Given the description of an element on the screen output the (x, y) to click on. 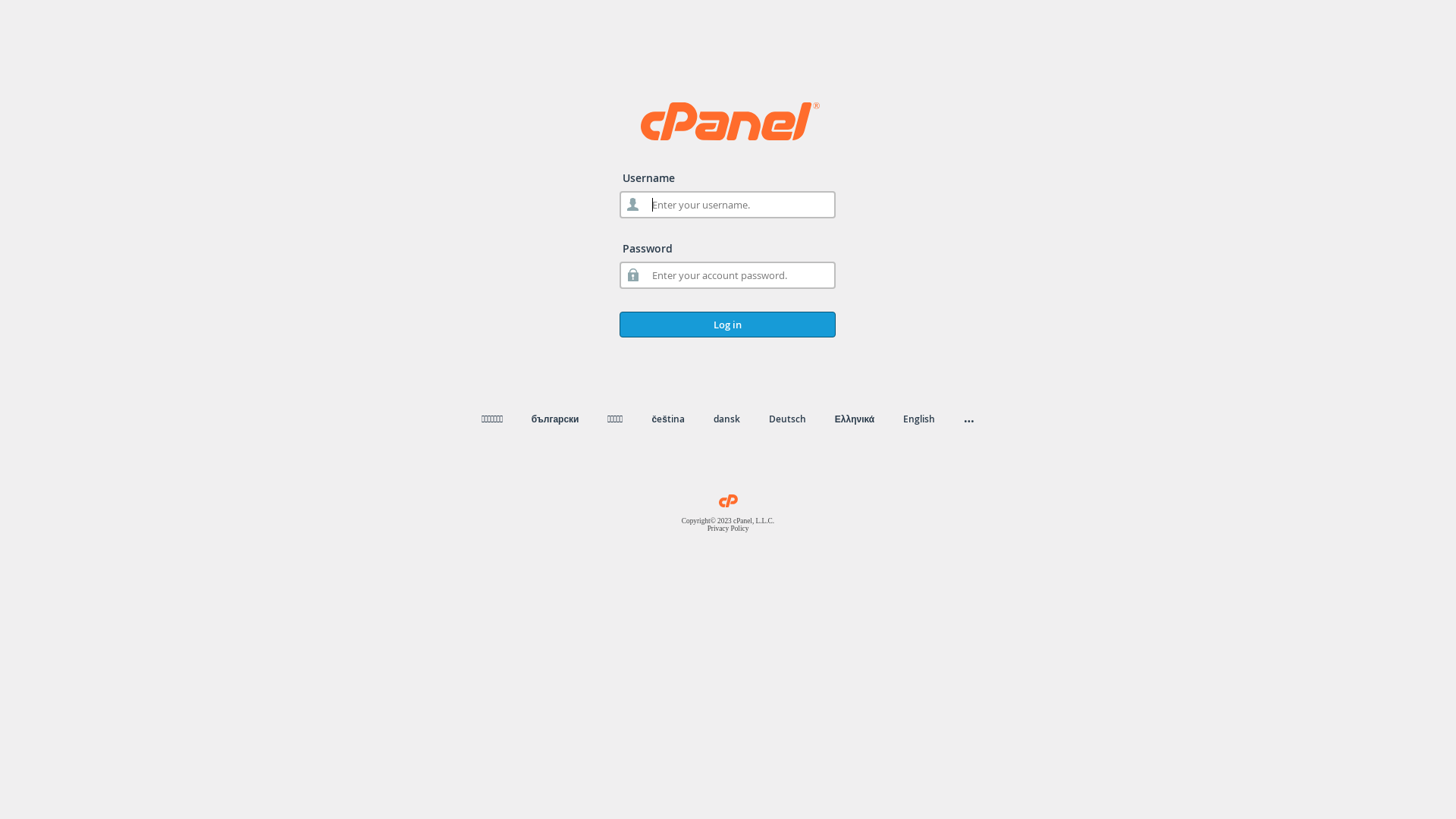
Log in Element type: text (727, 324)
English Element type: text (919, 418)
Privacy Policy Element type: text (728, 528)
Deutsch Element type: text (787, 418)
dansk Element type: text (726, 418)
